Given the description of an element on the screen output the (x, y) to click on. 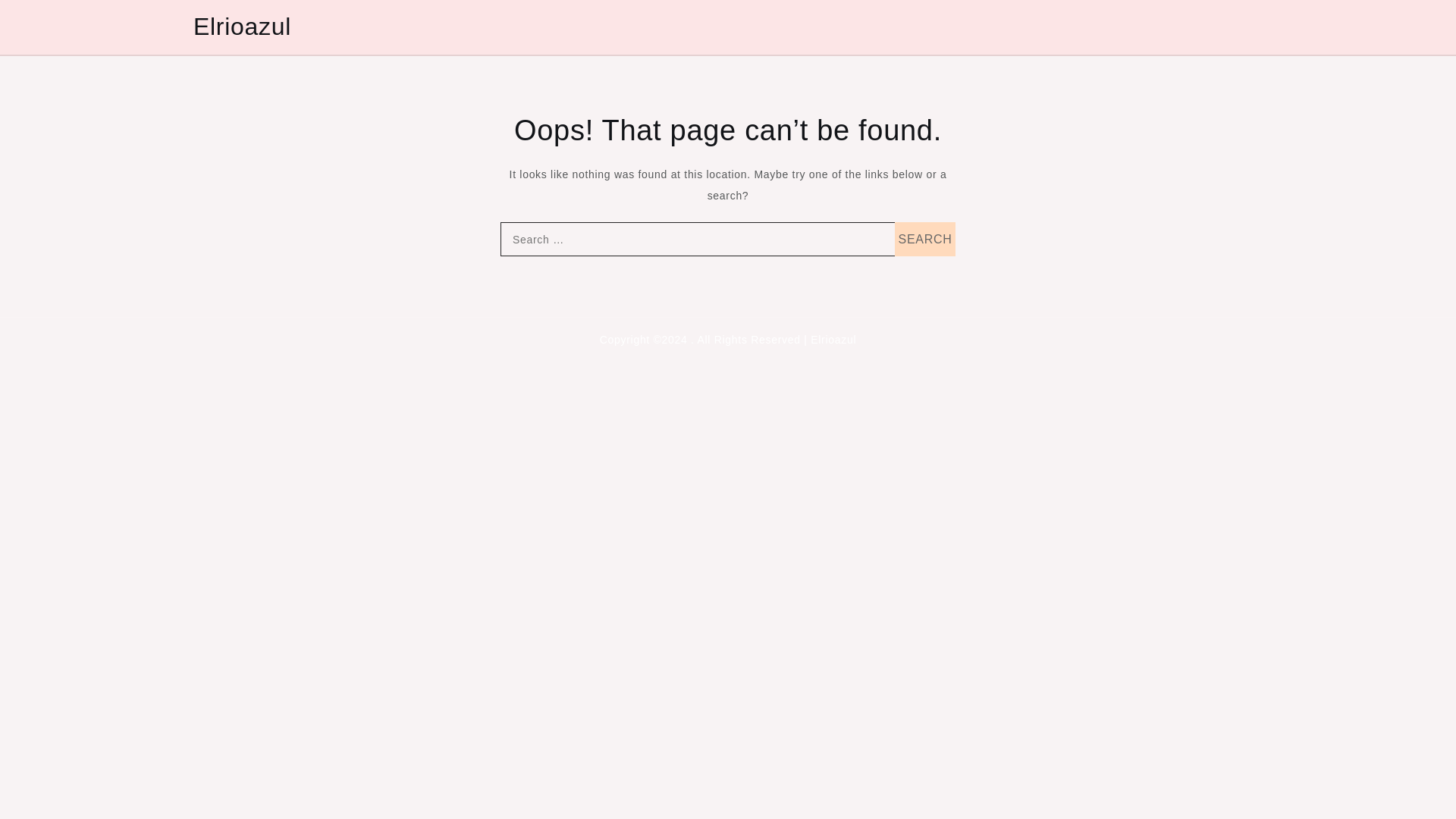
Elrioazul (242, 26)
Search (925, 238)
Search (925, 238)
Search (925, 238)
